Given the description of an element on the screen output the (x, y) to click on. 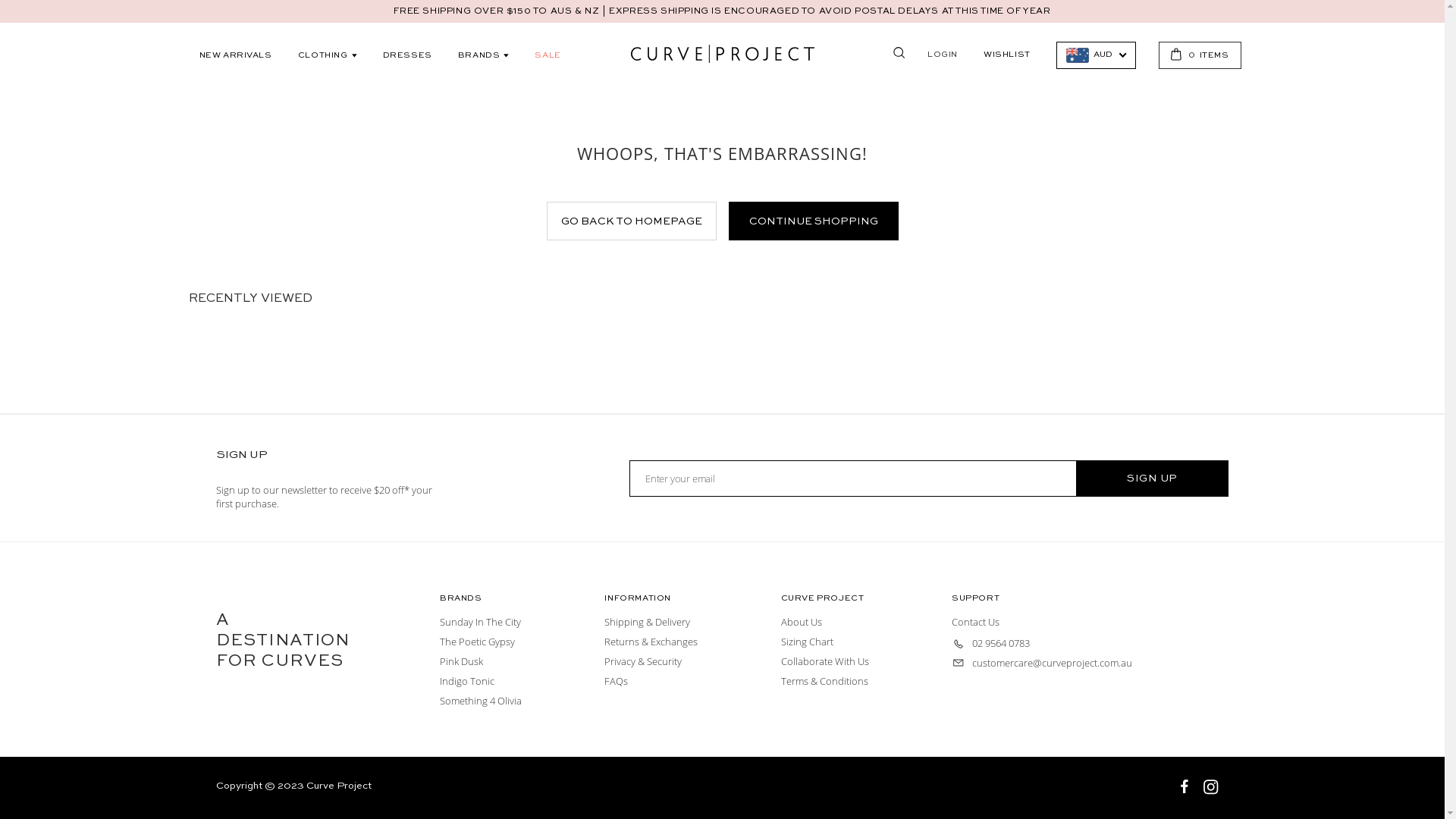
GO BACK TO HOMEPAGE Element type: text (630, 220)
Share on Facebook Element type: hover (1185, 788)
Curve Project Element type: text (338, 785)
02 9564 0783 Element type: text (993, 643)
SIGN UP Element type: text (1152, 478)
DRESSES Element type: text (407, 55)
INFORMATION Element type: text (637, 598)
Contact Us Element type: text (977, 621)
SALE Element type: text (547, 55)
CONTINUE SHOPPING Element type: text (812, 220)
Privacy & Security Element type: text (645, 661)
Shipping & Delivery Element type: text (649, 621)
Terms & Conditions Element type: text (827, 681)
customercare@curveproject.com.au Element type: text (1044, 662)
Pink Dusk Element type: text (463, 661)
WISHLIST Element type: text (1006, 54)
Collaborate With Us Element type: text (827, 661)
Sizing Chart Element type: text (809, 641)
BRANDS
EXPAND Element type: text (483, 55)
About Us Element type: text (804, 621)
Sunday In The City Element type: text (482, 621)
BRANDS Element type: text (460, 598)
Indigo Tonic Element type: text (469, 681)
CLOTHING
EXPAND Element type: text (327, 55)
FAQs Element type: text (618, 681)
CURVE PROJECT Element type: text (822, 598)
Something 4 Olivia Element type: text (483, 700)
The Poetic Gypsy Element type: text (479, 641)
Returns & Exchanges Element type: text (653, 641)
CURVE PROJECT Element type: text (722, 53)
NEW ARRIVALS Element type: text (235, 55)
SUPPORT Element type: text (975, 598)
0
ITEMS Element type: text (1199, 55)
